Given the description of an element on the screen output the (x, y) to click on. 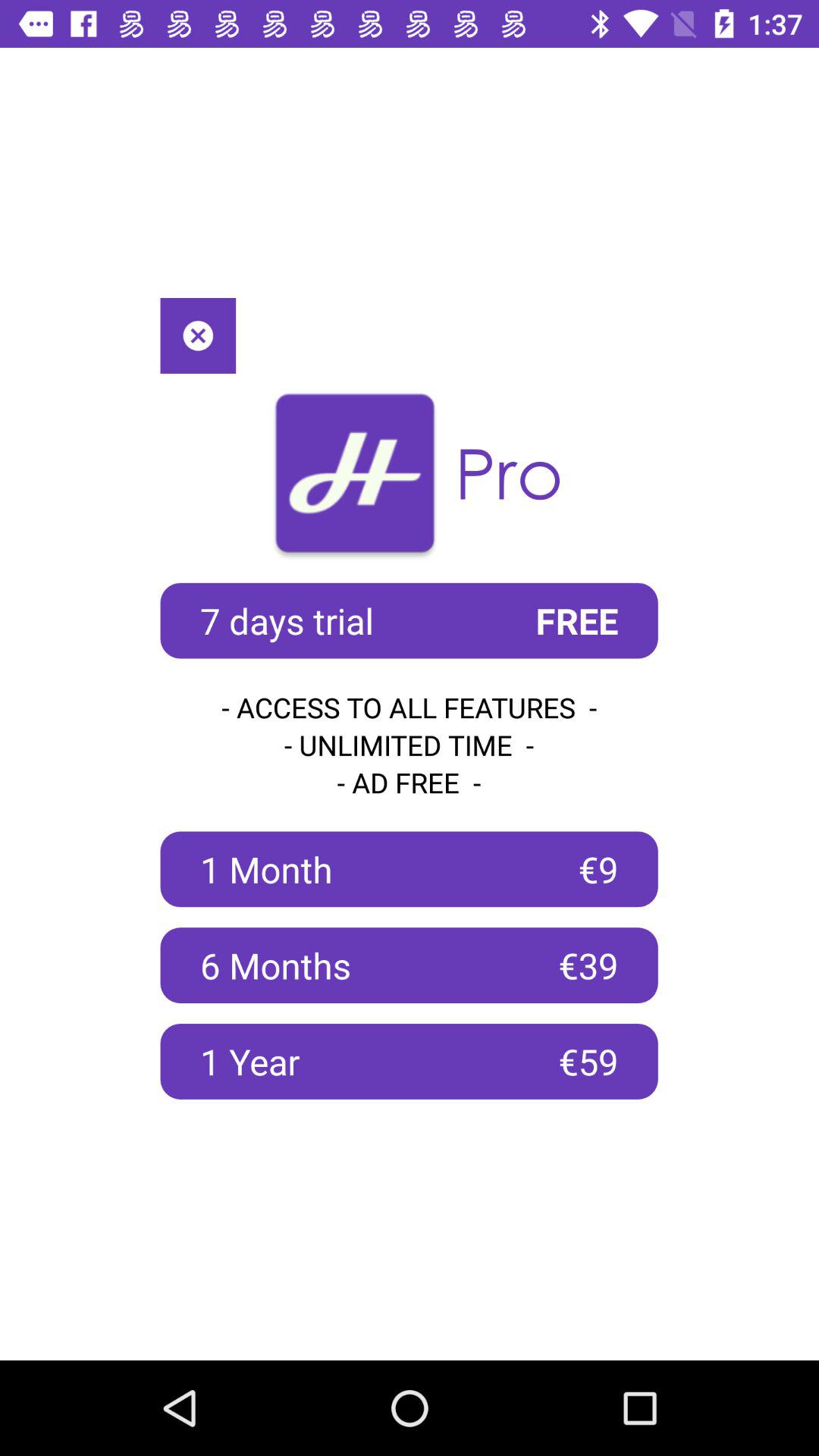
close the program (198, 335)
